Given the description of an element on the screen output the (x, y) to click on. 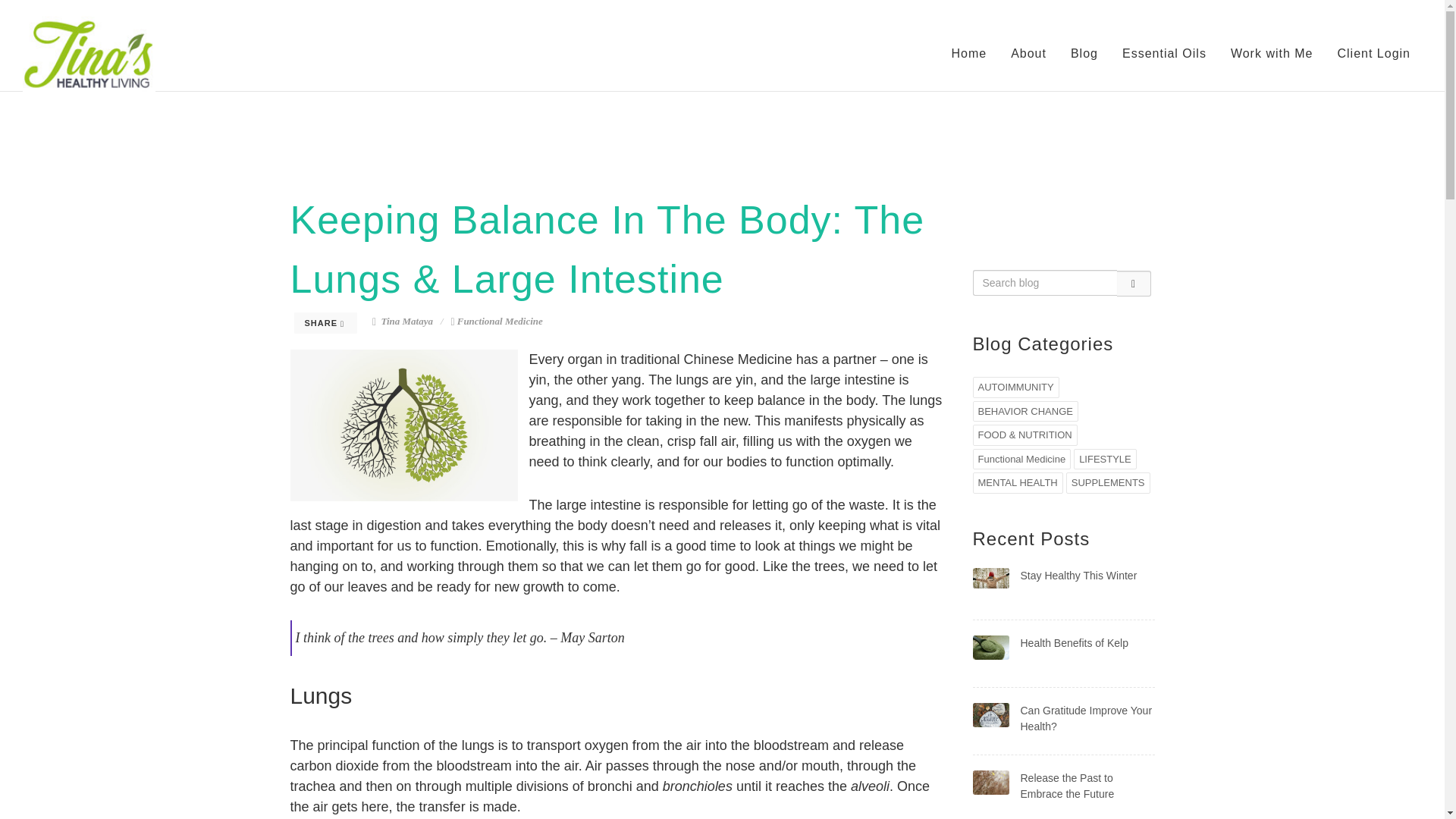
Stay Healthy This Winter (1078, 574)
Can Gratitude Improve Your Health? (1086, 717)
Release the Past to Embrace the Future (1067, 786)
MENTAL HEALTH (1017, 482)
Essential Oils (1163, 53)
AUTOIMMUNITY (1015, 387)
Functional Medicine (500, 320)
SUPPLEMENTS (1107, 482)
LIFESTYLE (1105, 459)
BEHAVIOR CHANGE (1024, 410)
